Given the description of an element on the screen output the (x, y) to click on. 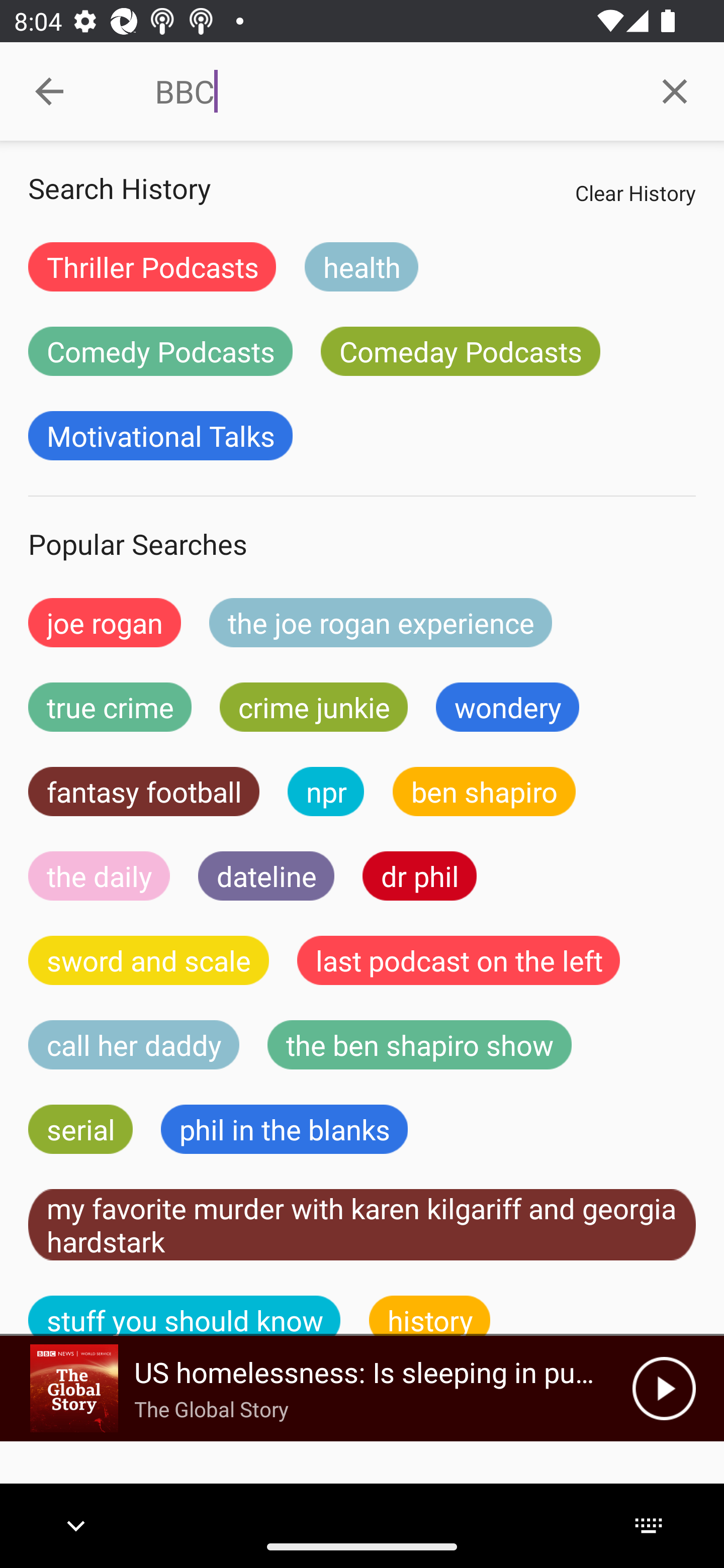
Collapse (49, 91)
Clear query (674, 90)
BBC (389, 91)
Clear History (634, 192)
Thriller Podcasts (152, 266)
health (361, 266)
Comedy Podcasts (160, 351)
Comeday Podcasts (460, 351)
Motivational Talks (160, 435)
joe rogan (104, 622)
the joe rogan experience (380, 622)
true crime (109, 707)
crime junkie (313, 707)
wondery (507, 707)
fantasy football (143, 791)
npr (325, 791)
ben shapiro (483, 791)
the daily (99, 875)
dateline (266, 875)
dr phil (419, 875)
sword and scale (148, 960)
last podcast on the left (458, 960)
call her daddy (133, 1044)
the ben shapiro show (419, 1044)
serial (80, 1128)
phil in the blanks (283, 1128)
stuff you should know (184, 1315)
history (429, 1315)
Play (663, 1388)
